Given the description of an element on the screen output the (x, y) to click on. 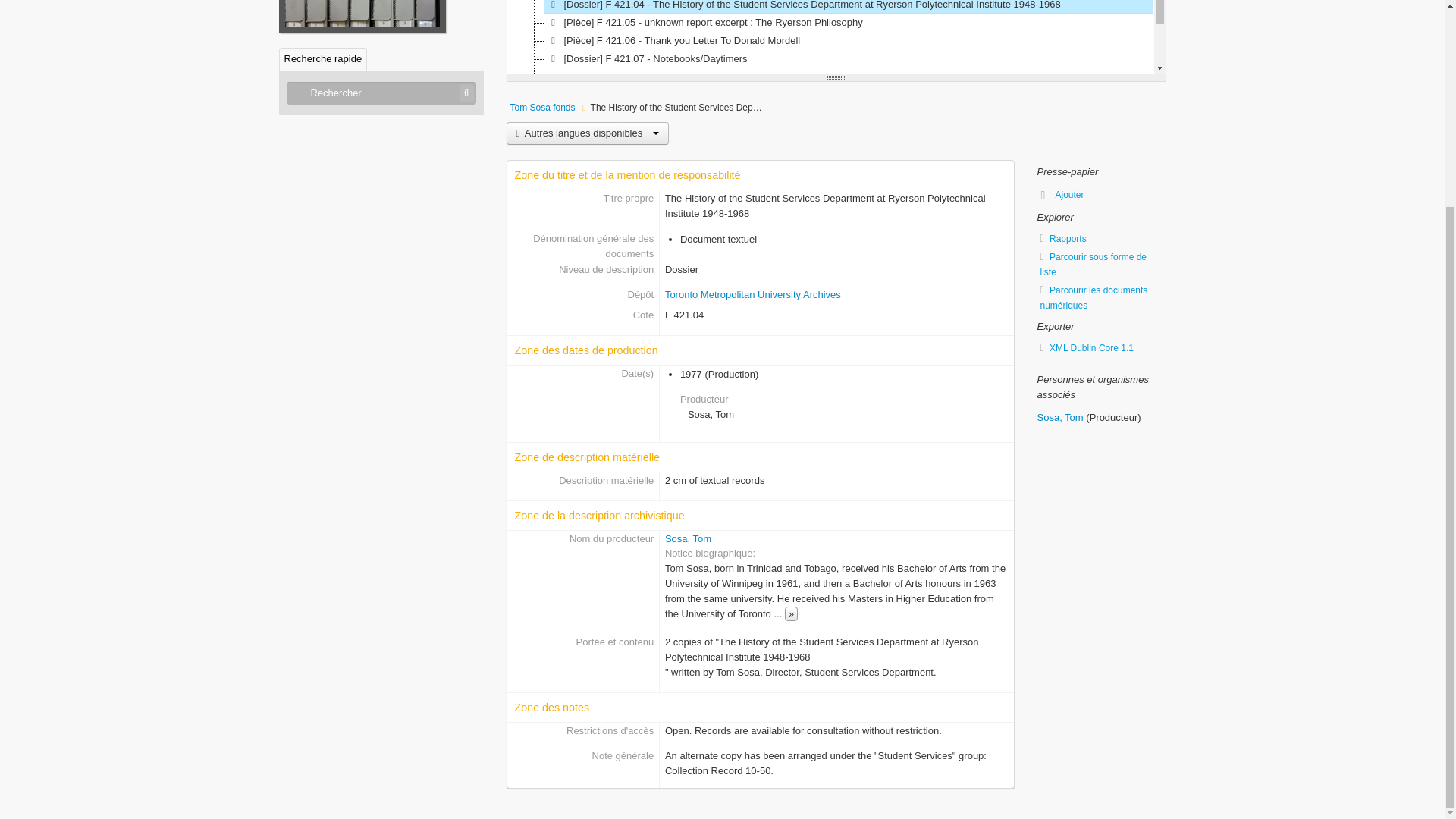
Recherche rapide (323, 58)
